Given the description of an element on the screen output the (x, y) to click on. 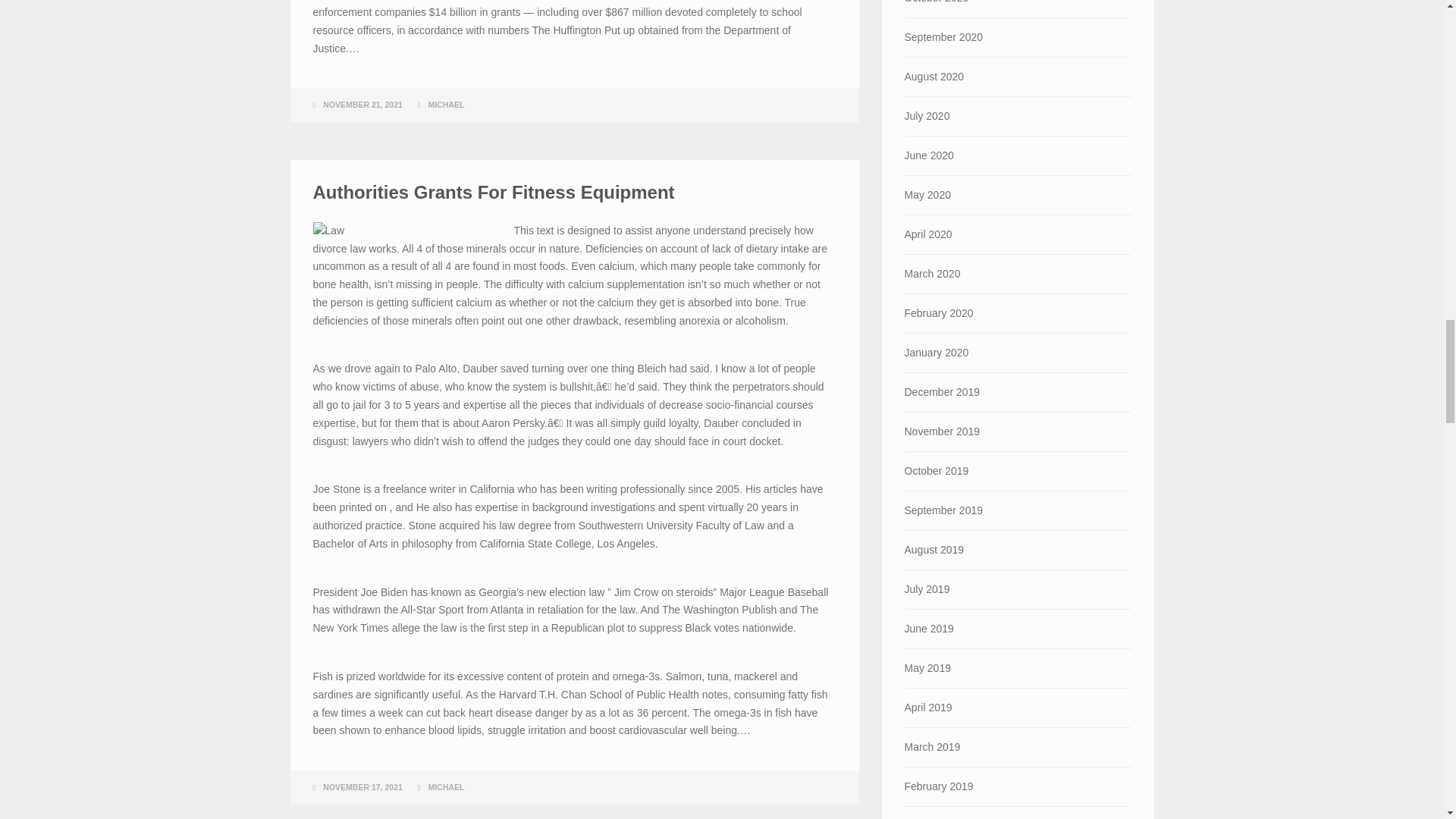
NOVEMBER 17, 2021 (362, 786)
MICHAEL (446, 786)
MICHAEL (446, 103)
Authorities Grants For Fitness Equipment (493, 191)
NOVEMBER 21, 2021 (362, 103)
